Given the description of an element on the screen output the (x, y) to click on. 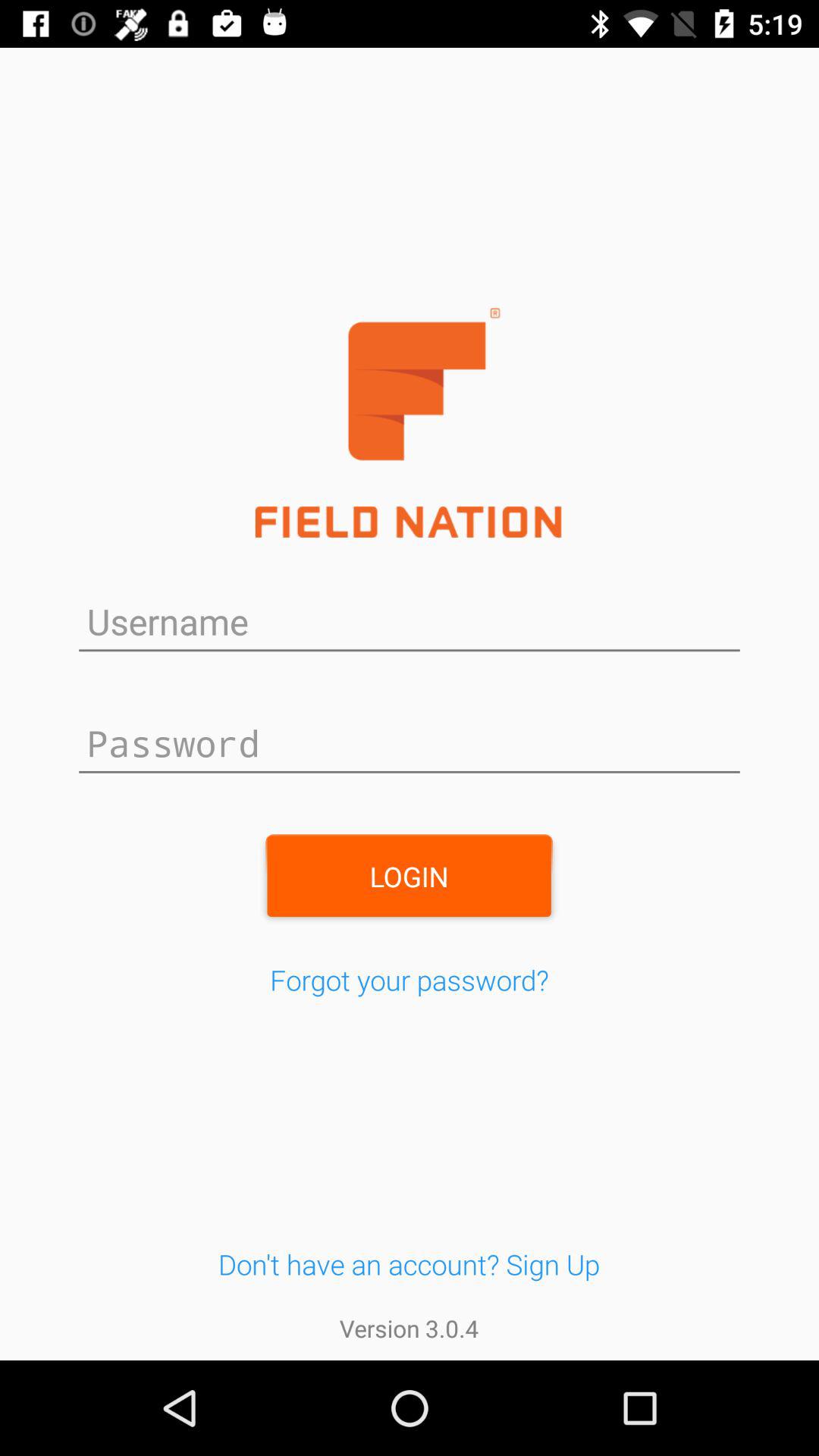
flip until forgot your password? item (409, 979)
